Given the description of an element on the screen output the (x, y) to click on. 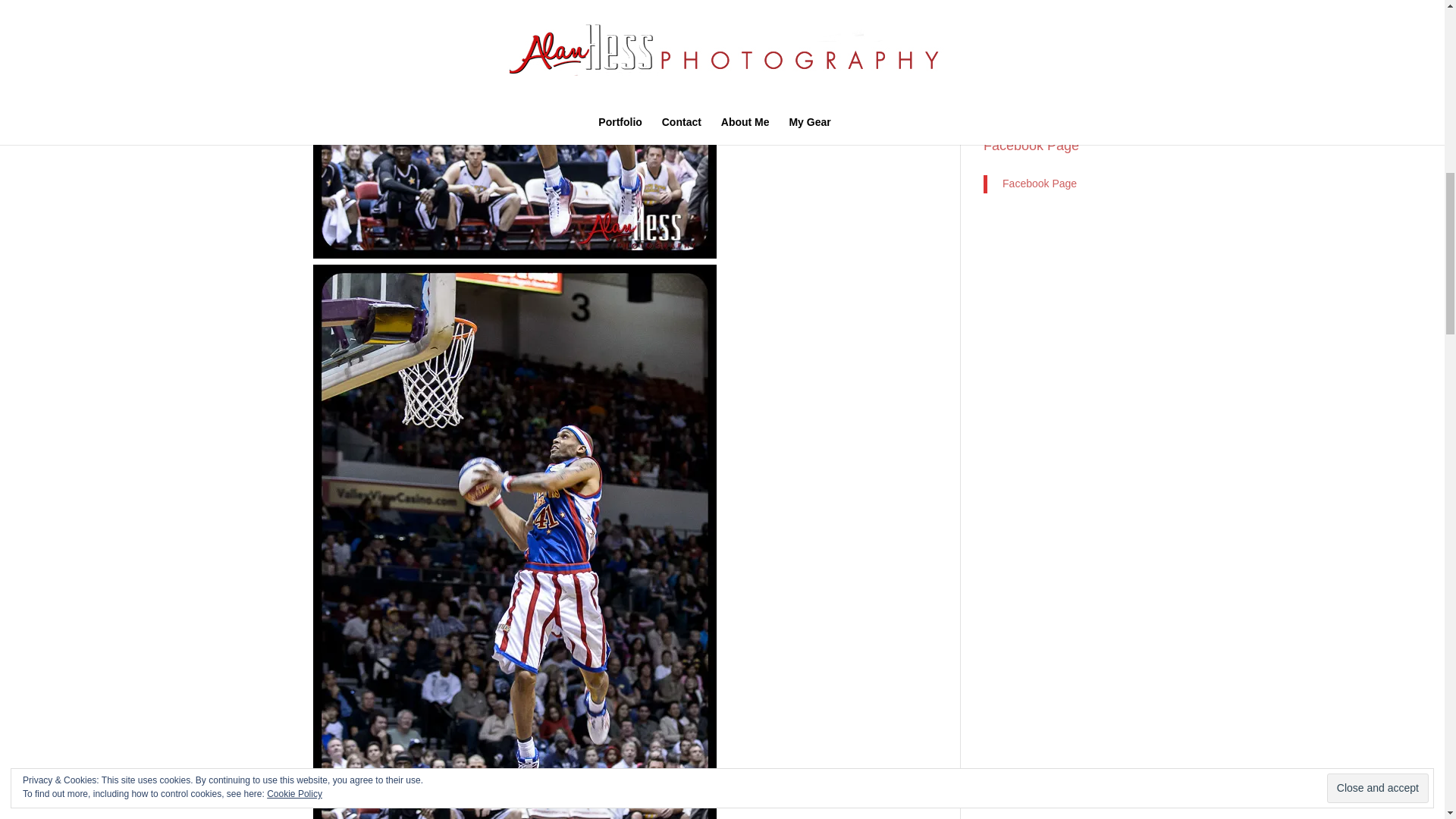
Facebook Page (1031, 145)
Scott Diussa (1013, 82)
Lightroom killer tips (1029, 36)
Facebook Page (1040, 183)
Photoshop Insider (1026, 60)
Strobist (1001, 106)
Joe McNally (1012, 12)
